Given the description of an element on the screen output the (x, y) to click on. 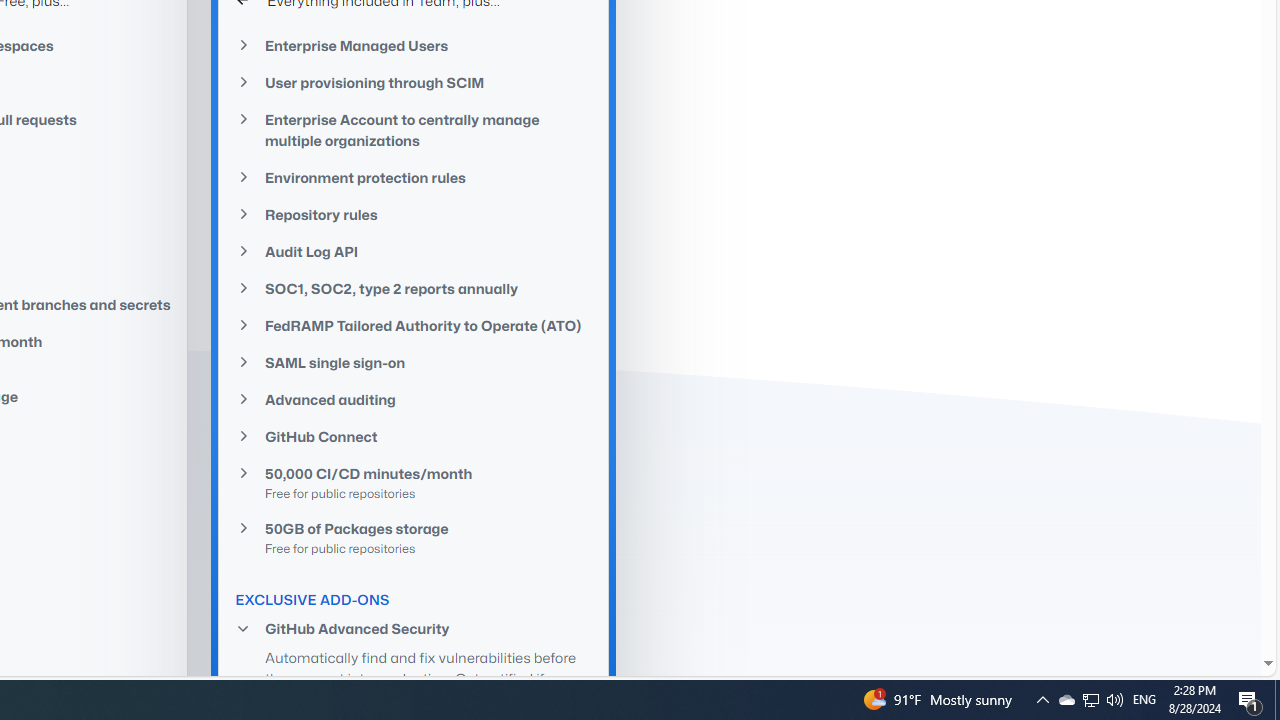
SAML single sign-on (413, 362)
Advanced auditing (413, 399)
User provisioning through SCIM (413, 82)
50,000 CI/CD minutes/monthFree for public repositories (413, 482)
Environment protection rules (413, 177)
FedRAMP Tailored Authority to Operate (ATO) (413, 325)
Advanced auditing (413, 399)
Audit Log API (413, 251)
User provisioning through SCIM (413, 83)
SAML single sign-on (413, 363)
